Given the description of an element on the screen output the (x, y) to click on. 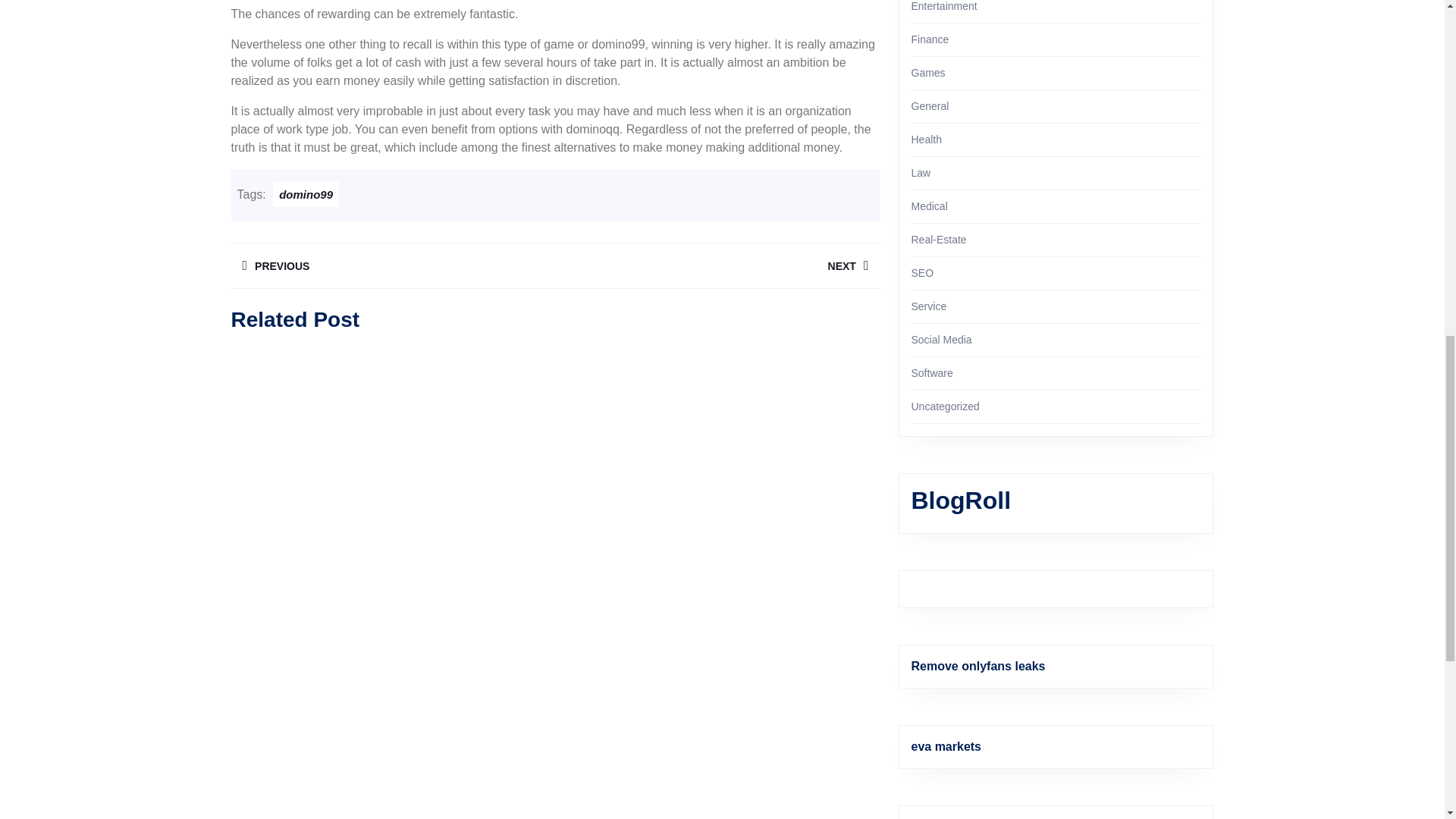
General (930, 105)
Entertainment (943, 6)
Law (716, 265)
Finance (921, 173)
Games (930, 39)
domino99 (927, 72)
Health (306, 194)
